Given the description of an element on the screen output the (x, y) to click on. 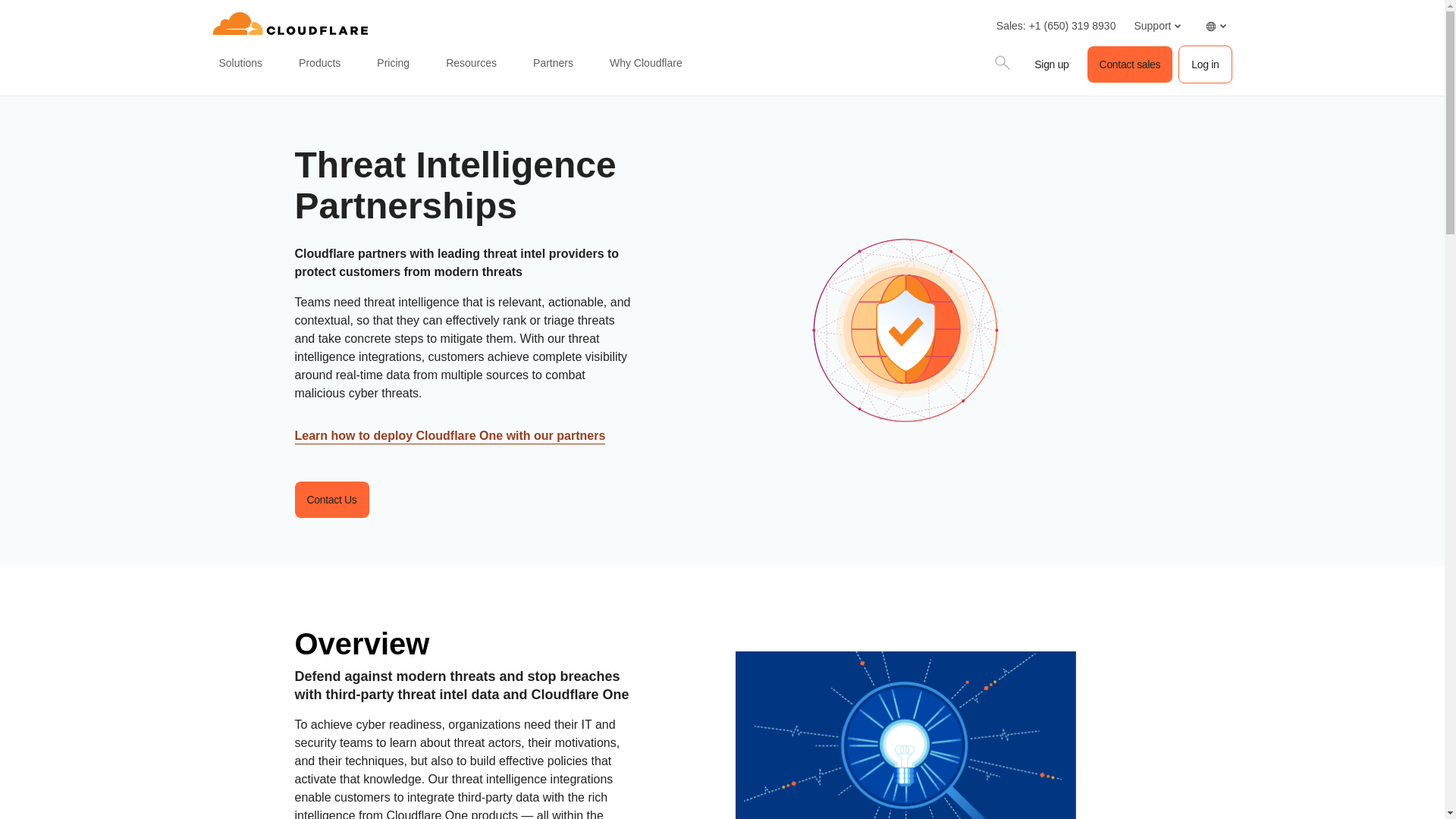
Contact Us (331, 499)
Log in (1204, 64)
Partners (553, 63)
Resources (470, 63)
Products (319, 63)
Contact sales (1130, 63)
Learn how to deploy Cloudflare One with our partners (449, 436)
Support (1156, 26)
Why Cloudflare (646, 63)
Solutions (239, 63)
Pricing (392, 63)
Sign up (1051, 63)
